Given the description of an element on the screen output the (x, y) to click on. 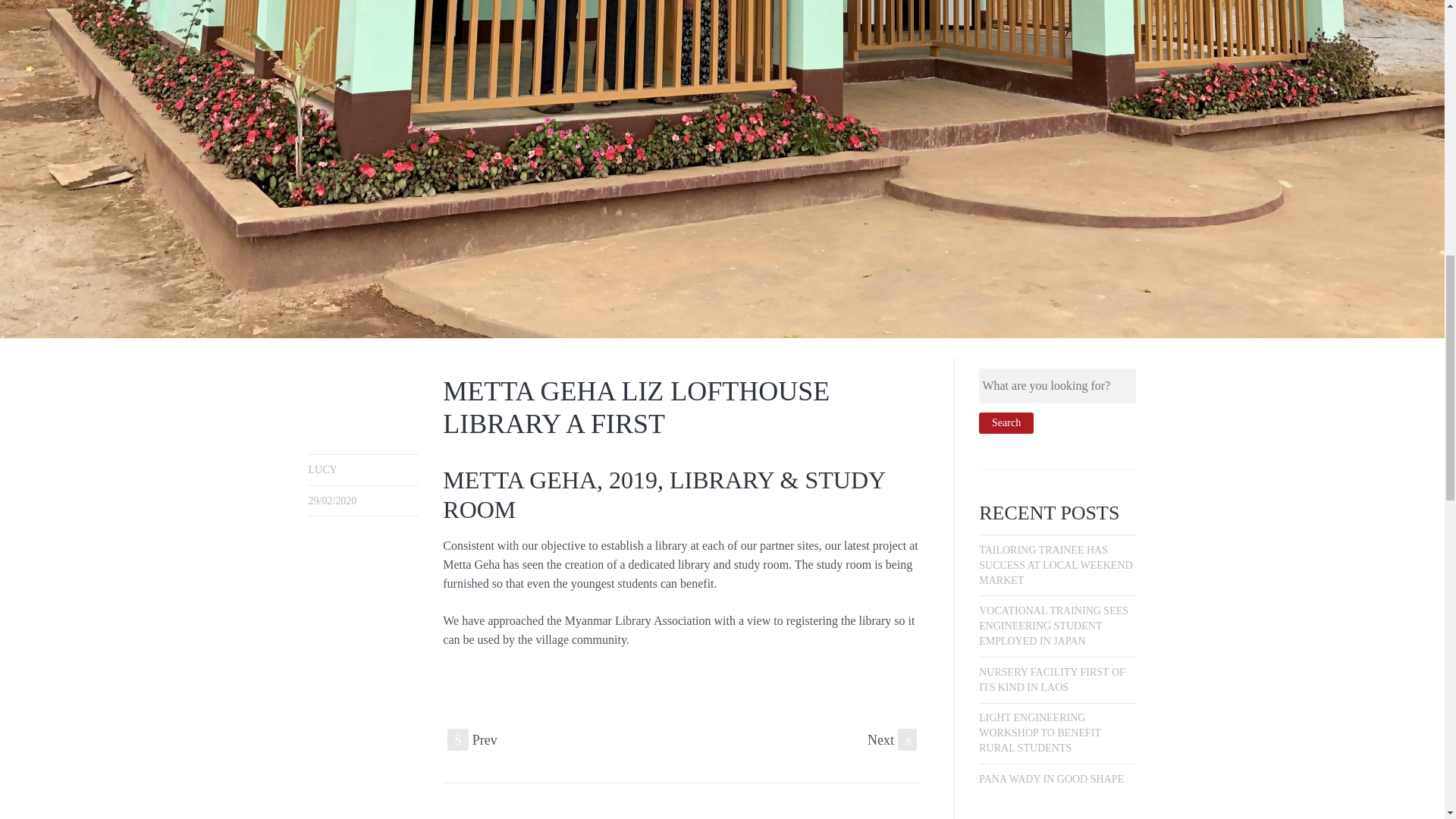
S Prev (471, 739)
TAILORING TRAINEE HAS SUCCESS AT LOCAL WEEKEND MARKET (1055, 565)
NURSERY FACILITY FIRST OF ITS KIND IN LAOS (1051, 679)
Search (1005, 422)
LUCY (321, 469)
Posts by Lucy (321, 469)
Next s (892, 739)
LIGHT ENGINEERING WORKSHOP TO BENEFIT RURAL STUDENTS (1039, 732)
PANA WADY IN GOOD SHAPE (1051, 778)
Search (1005, 422)
